Given the description of an element on the screen output the (x, y) to click on. 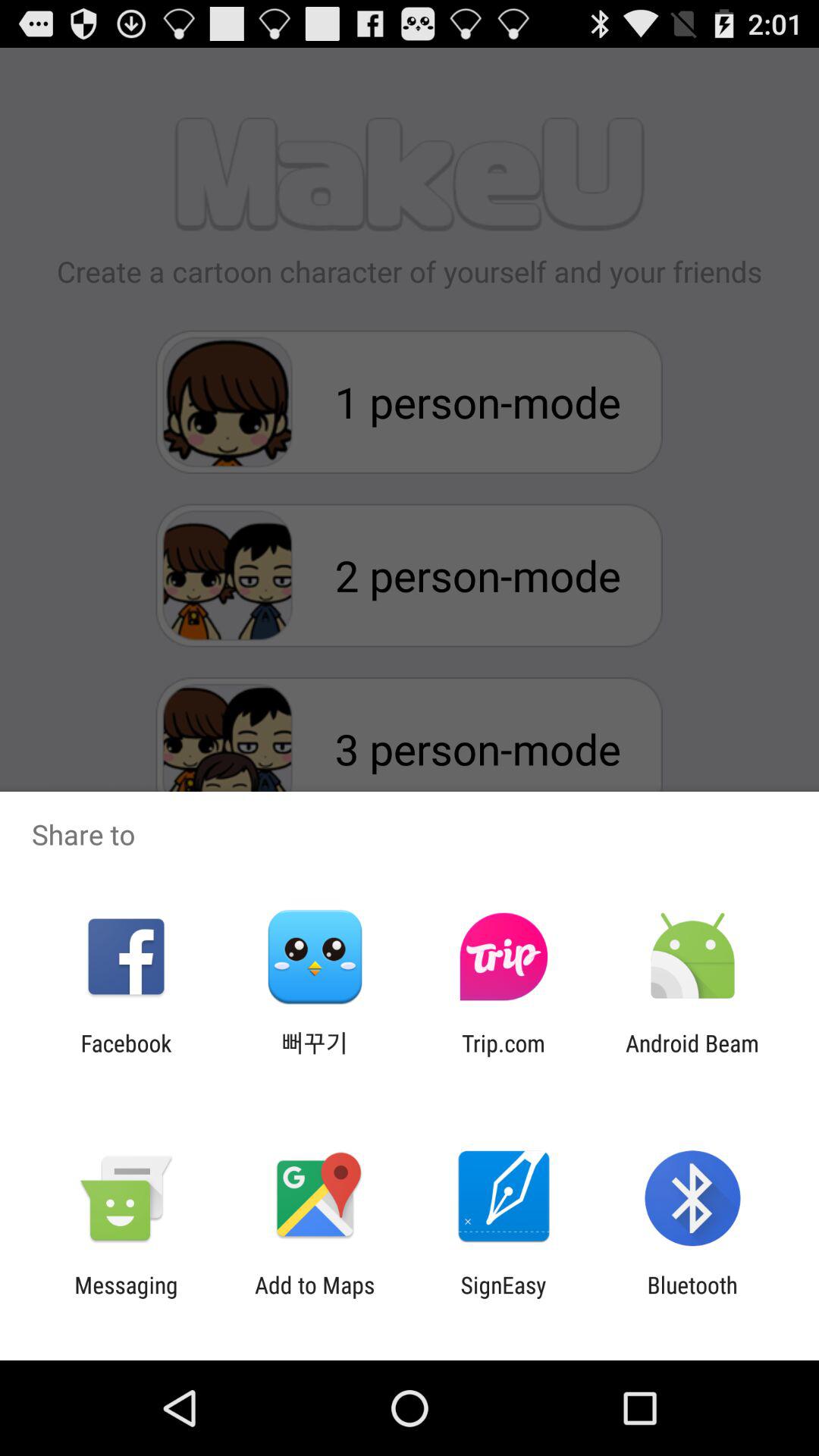
jump to facebook icon (125, 1056)
